Given the description of an element on the screen output the (x, y) to click on. 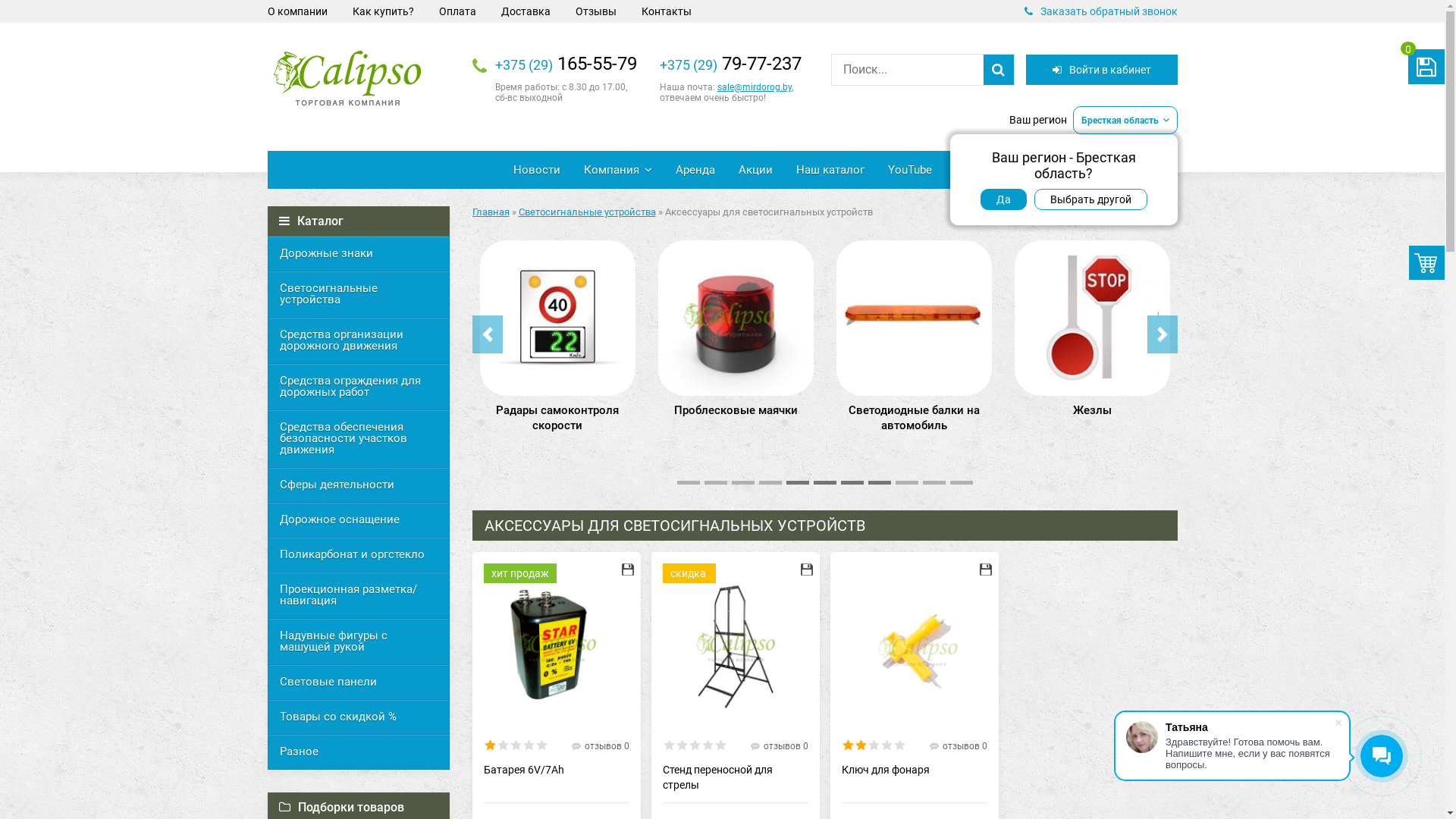
3 Element type: text (515, 744)
2 Element type: text (680, 744)
YouTube Element type: text (909, 169)
3 Element type: text (694, 744)
2 Element type: text (501, 744)
2 Element type: text (859, 744)
3 Element type: text (873, 744)
4 Element type: text (527, 744)
5 Element type: text (541, 744)
+375 (29) 165-55-79 Element type: text (565, 63)
sale@mirdorog.by Element type: text (754, 86)
0 Element type: text (1426, 66)
5 Element type: text (720, 744)
1 Element type: text (668, 744)
+375 (29) 79-77-237 Element type: text (730, 63)
1 Element type: text (489, 744)
4 Element type: text (885, 744)
1 Element type: text (847, 744)
4 Element type: text (706, 744)
5 Element type: text (899, 744)
